Given the description of an element on the screen output the (x, y) to click on. 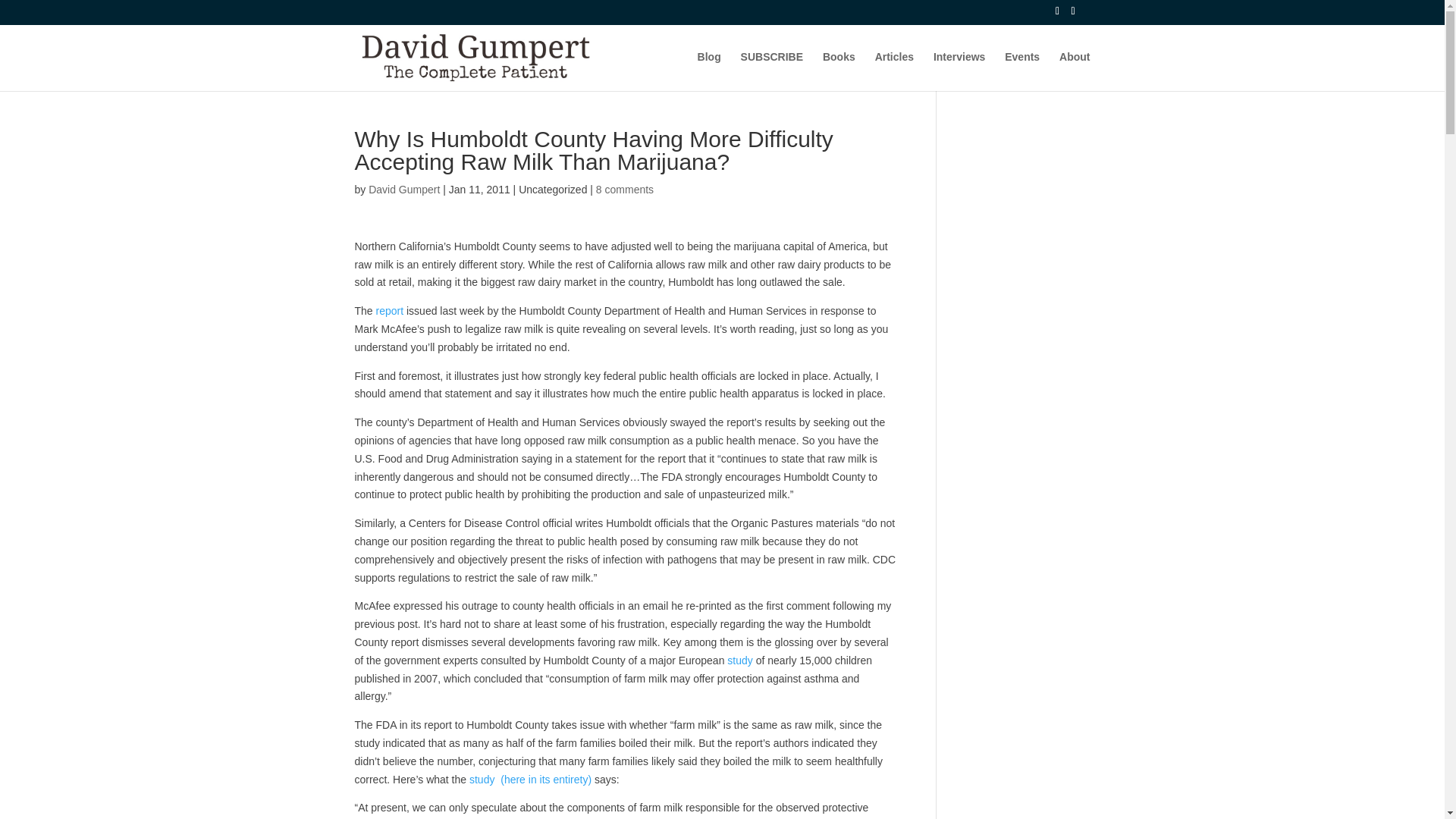
report (390, 310)
Interviews (959, 70)
Posts by David Gumpert (403, 189)
SUBSCRIBE (772, 70)
8 comments (624, 189)
David Gumpert (403, 189)
study (740, 660)
Articles (894, 70)
